Given the description of an element on the screen output the (x, y) to click on. 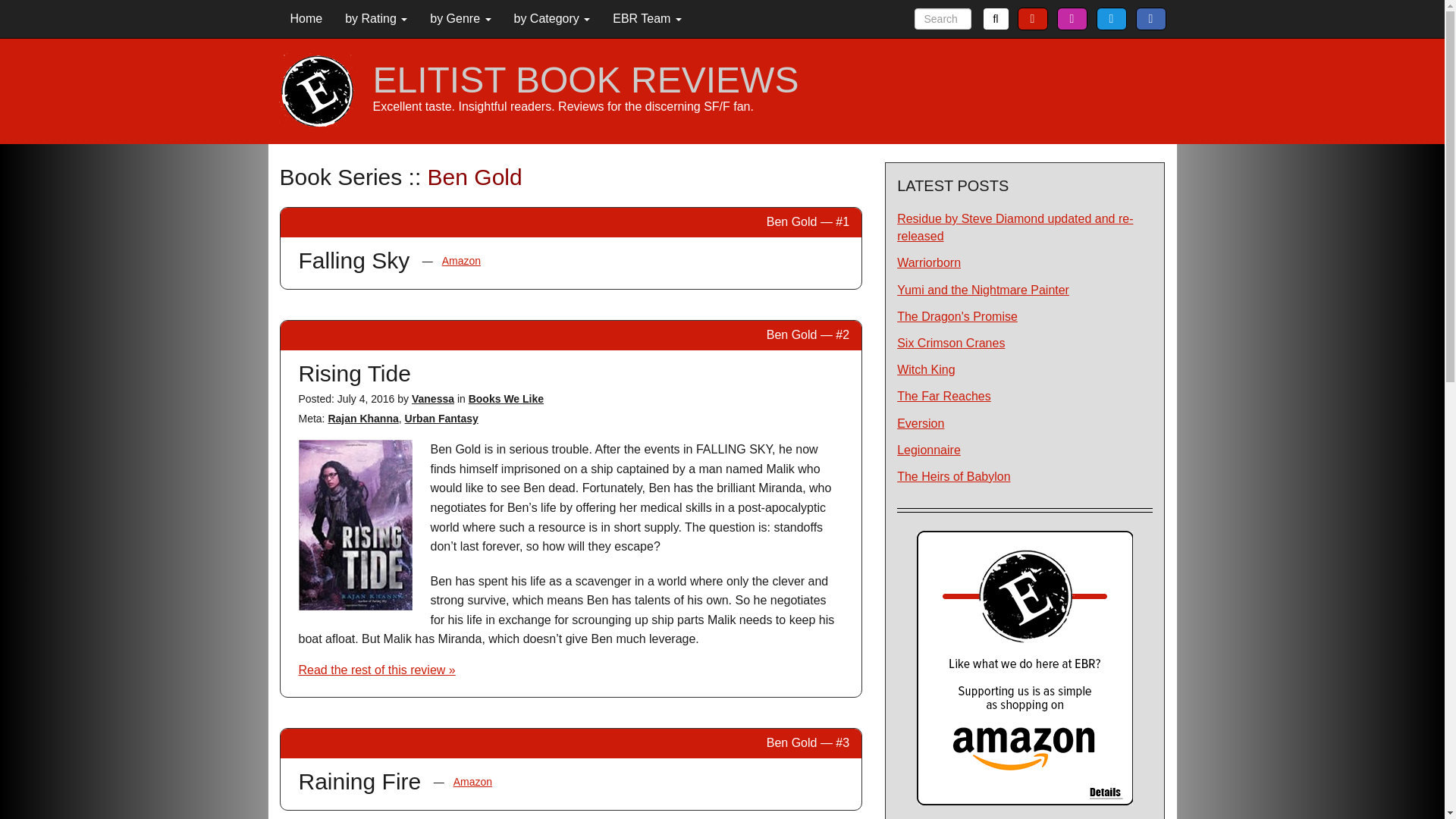
by Category (551, 18)
by Rating (376, 18)
by Rating (376, 18)
Home (306, 18)
Home (306, 18)
by Genre (460, 18)
by Genre (460, 18)
